Given the description of an element on the screen output the (x, y) to click on. 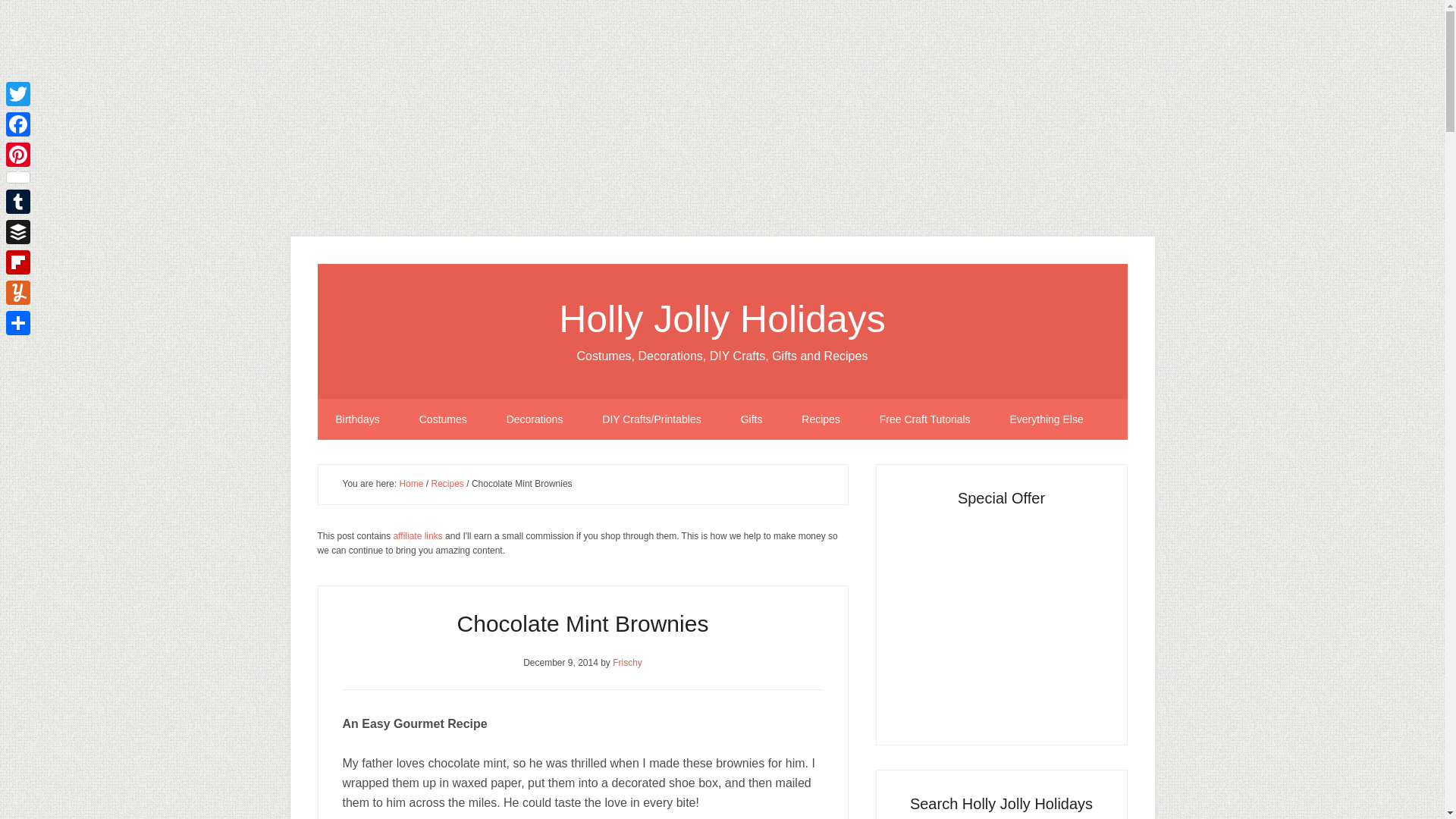
Decorations (533, 418)
Costumes (442, 418)
Free Craft Tutorials (924, 418)
Holly Jolly Holidays (722, 319)
Birthdays (357, 418)
Recipes (821, 418)
Gifts (751, 418)
